Given the description of an element on the screen output the (x, y) to click on. 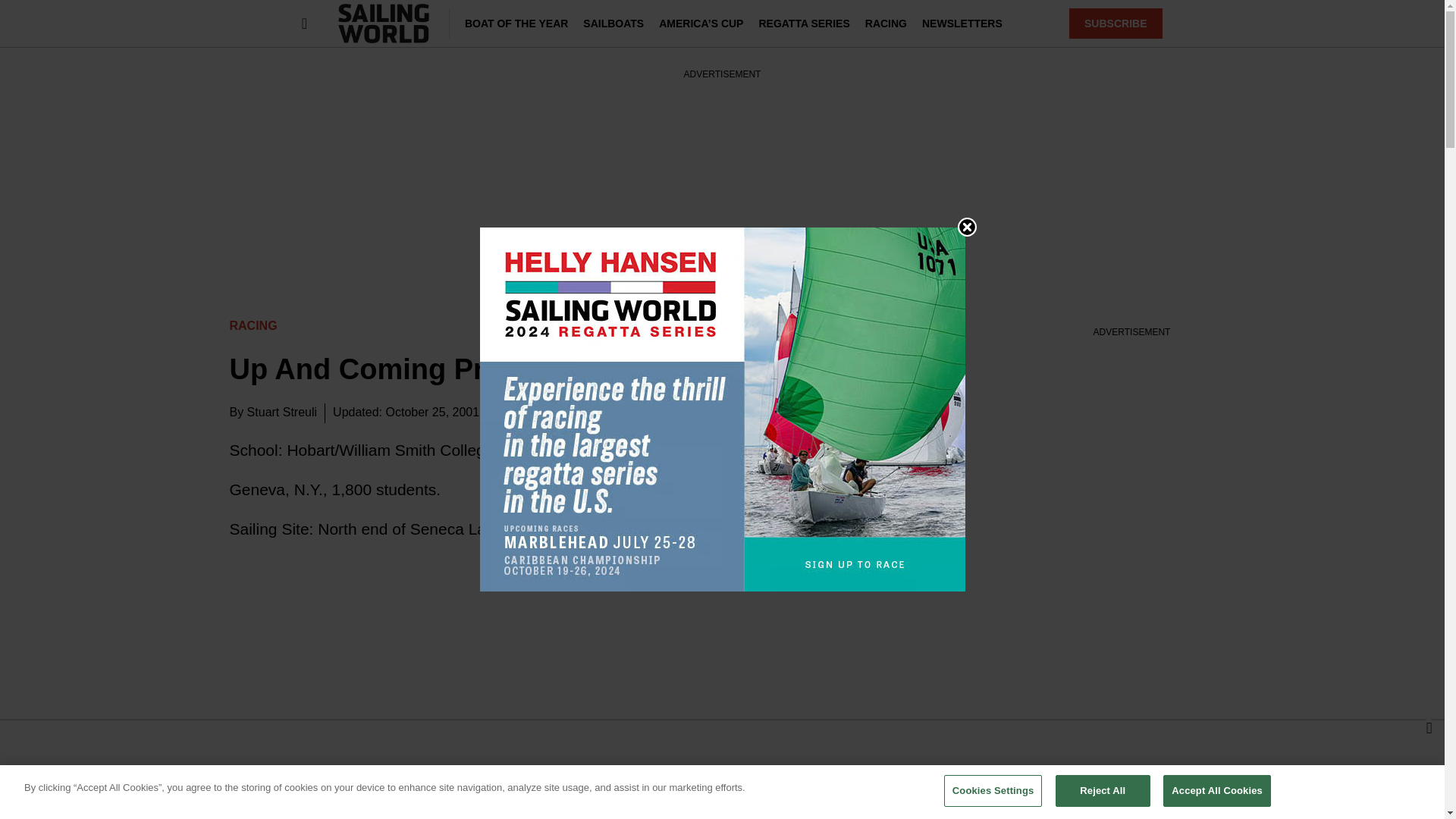
3rd party ad content (721, 769)
NEWSLETTERS (962, 23)
BOAT OF THE YEAR (515, 23)
SUBSCRIBE (1114, 23)
SAILBOATS (613, 23)
REGATTA SERIES (803, 23)
RACING (885, 23)
